Given the description of an element on the screen output the (x, y) to click on. 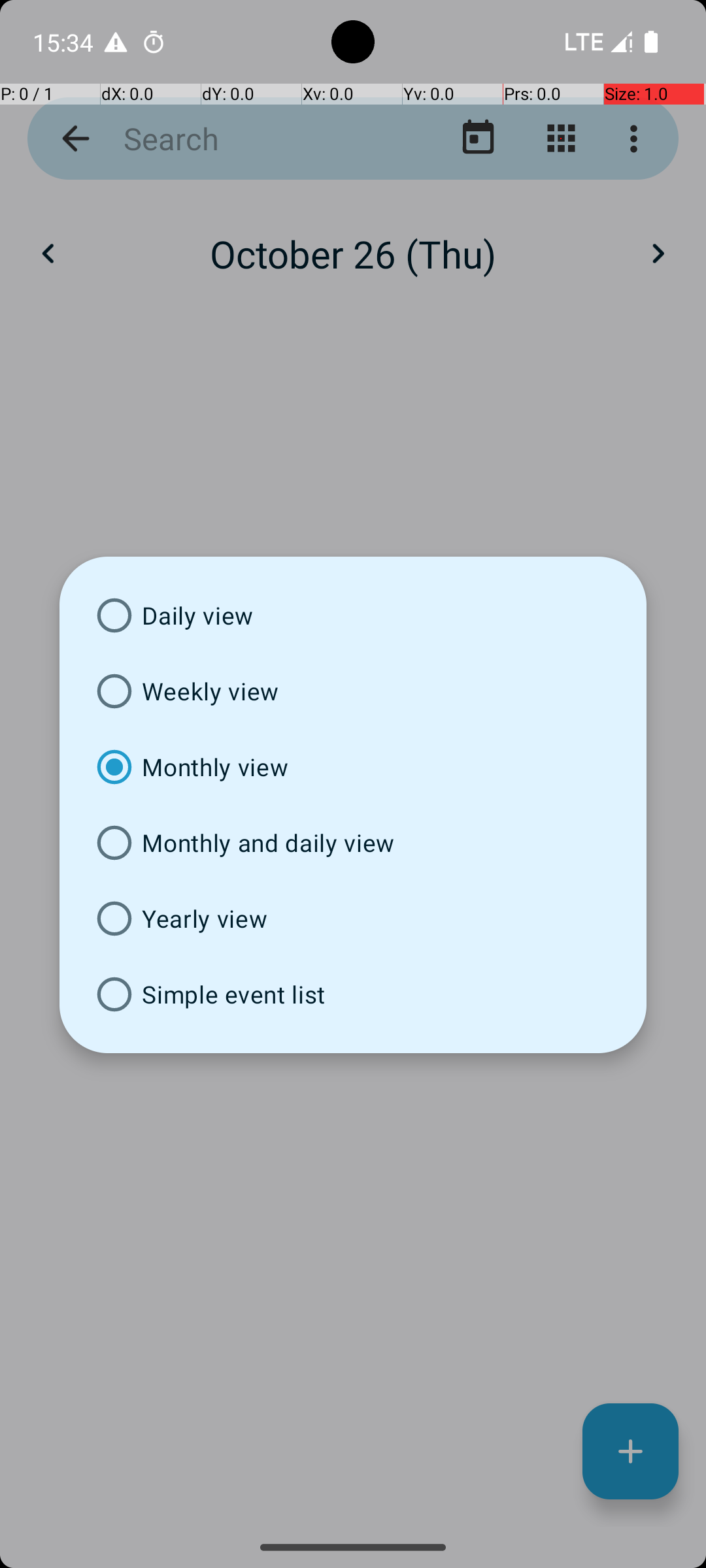
Daily view Element type: android.widget.RadioButton (352, 615)
Weekly view Element type: android.widget.RadioButton (352, 691)
Monthly view Element type: android.widget.RadioButton (352, 766)
Monthly and daily view Element type: android.widget.RadioButton (352, 842)
Yearly view Element type: android.widget.RadioButton (352, 918)
Simple event list Element type: android.widget.RadioButton (352, 994)
